Given the description of an element on the screen output the (x, y) to click on. 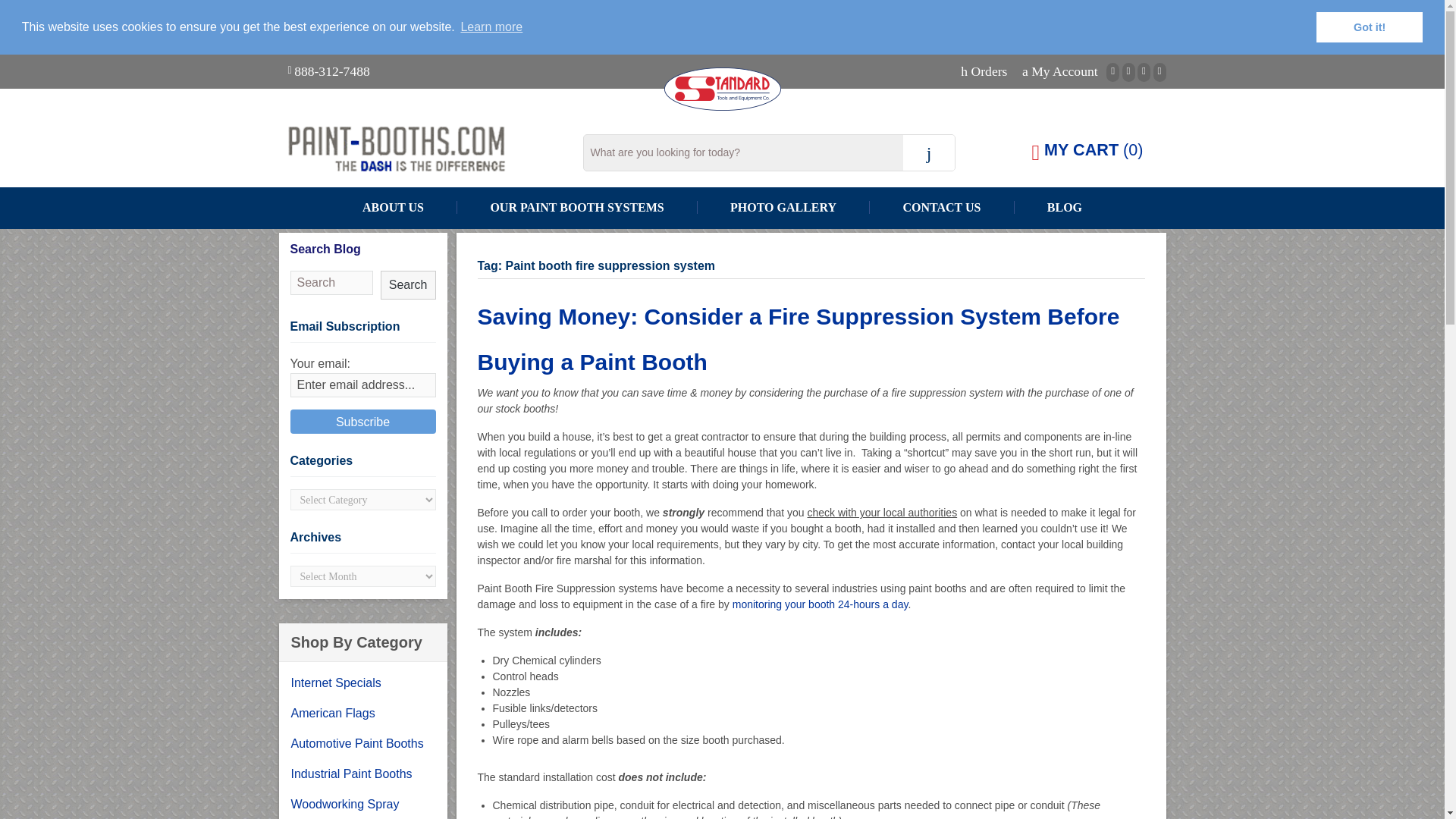
FIRE SUPPRESSION SYSTEMS (25, 531)
Learn more (491, 26)
888-312-7488 (331, 70)
PHOTO GALLERY (783, 206)
Automotive Paint Booths (362, 743)
Internet Specials (362, 683)
Orders (984, 70)
My Account (1059, 70)
CONTACT US (941, 206)
Subscribe (362, 421)
Enter email address... (362, 385)
monitoring your booth 24-hours a day (820, 604)
Paint Booths (427, 148)
Got it! (1369, 27)
BLOG (1064, 206)
